Given the description of an element on the screen output the (x, y) to click on. 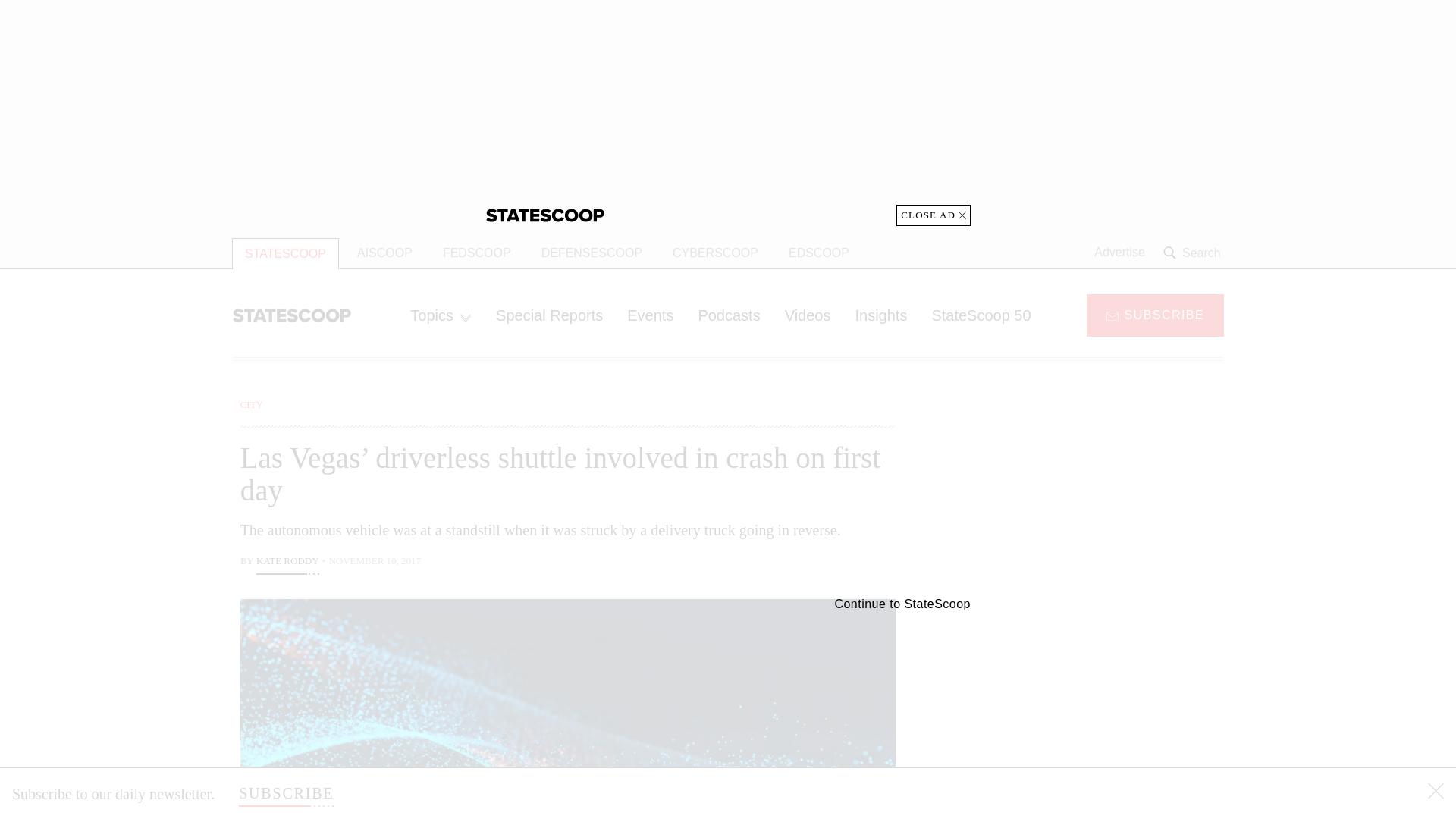
DEFENSESCOOP (591, 253)
3rd party ad content (1101, 492)
EDSCOOP (818, 253)
3rd party ad content (1101, 705)
SUBSCRIBE (1155, 314)
SUBSCRIBE (285, 793)
Advertise (1119, 252)
CITY (251, 404)
STATESCOOP (285, 253)
Videos (808, 315)
